Given the description of an element on the screen output the (x, y) to click on. 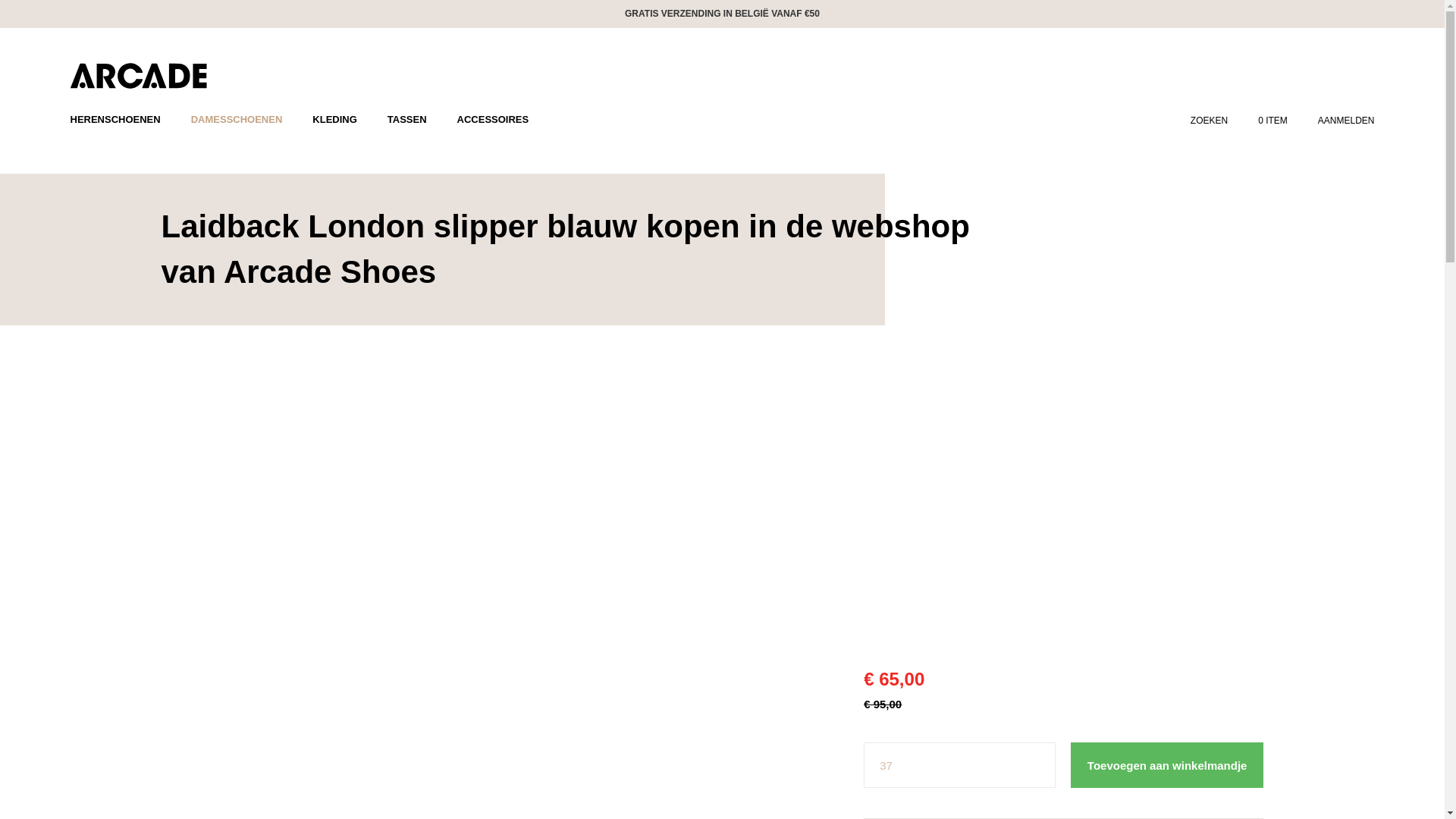
DAMESSCHOENEN (237, 119)
ACCESSOIRES (493, 119)
Toevoegen aan winkelmandje (1166, 764)
KLEDING (334, 119)
AANMELDEN (1345, 104)
TASSEN (407, 119)
HERENSCHOENEN (114, 119)
Gelieve een maat te kiezen (959, 764)
